Given the description of an element on the screen output the (x, y) to click on. 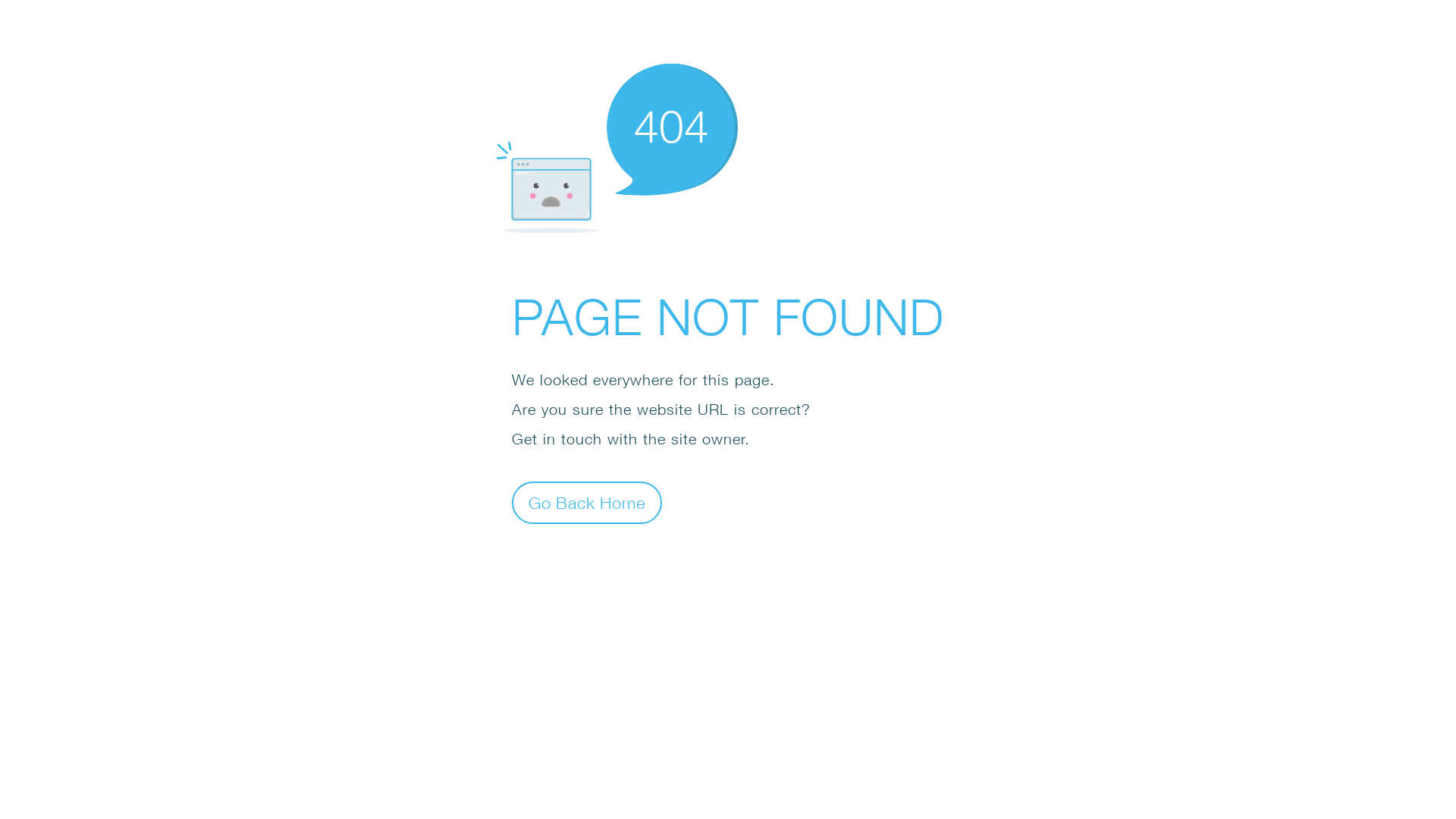
Go Back Home Element type: text (586, 502)
